Given the description of an element on the screen output the (x, y) to click on. 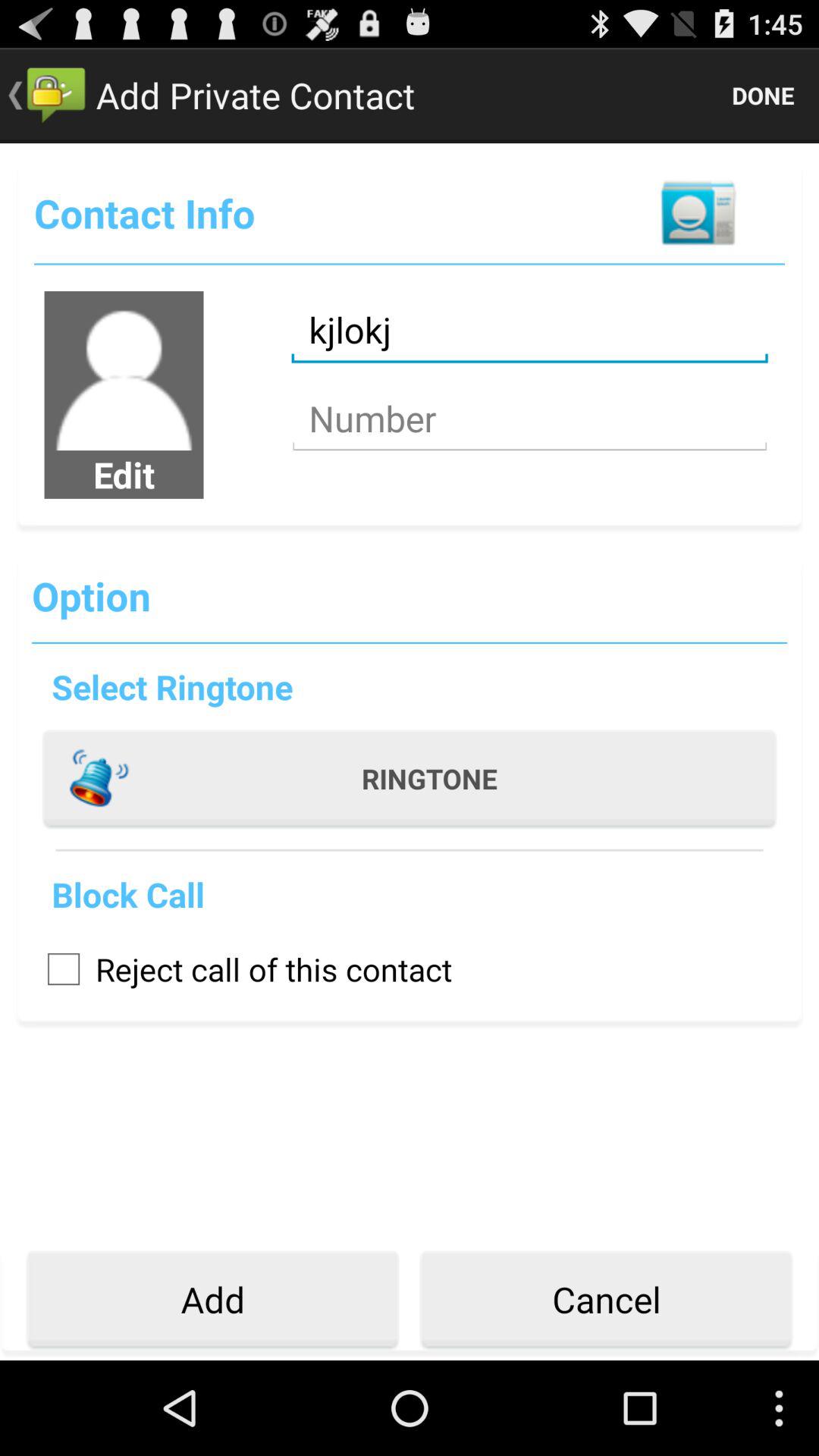
open item above option icon (123, 474)
